Given the description of an element on the screen output the (x, y) to click on. 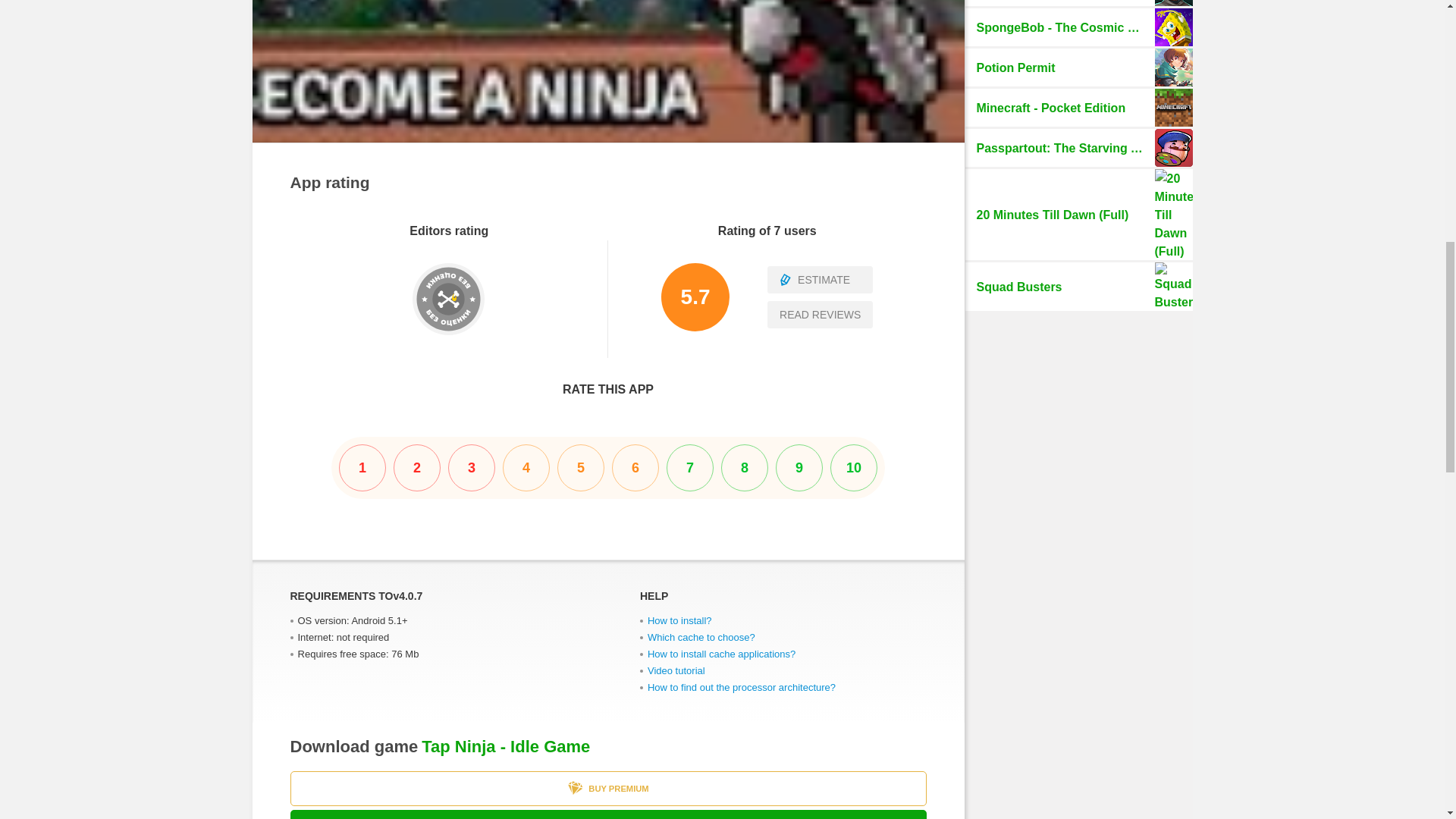
How to install? (679, 620)
SpongeBob - The Cosmic Shake (1077, 26)
Passpartout: The Starving Artist (1077, 147)
Squad Busters (1077, 286)
ESTIMATE (819, 279)
How to install cache applications? (720, 654)
BUY PREMIUM (607, 788)
READ REVIEWS (819, 314)
Potion Permit (1077, 67)
How to find out the processor architecture? (741, 686)
